Given the description of an element on the screen output the (x, y) to click on. 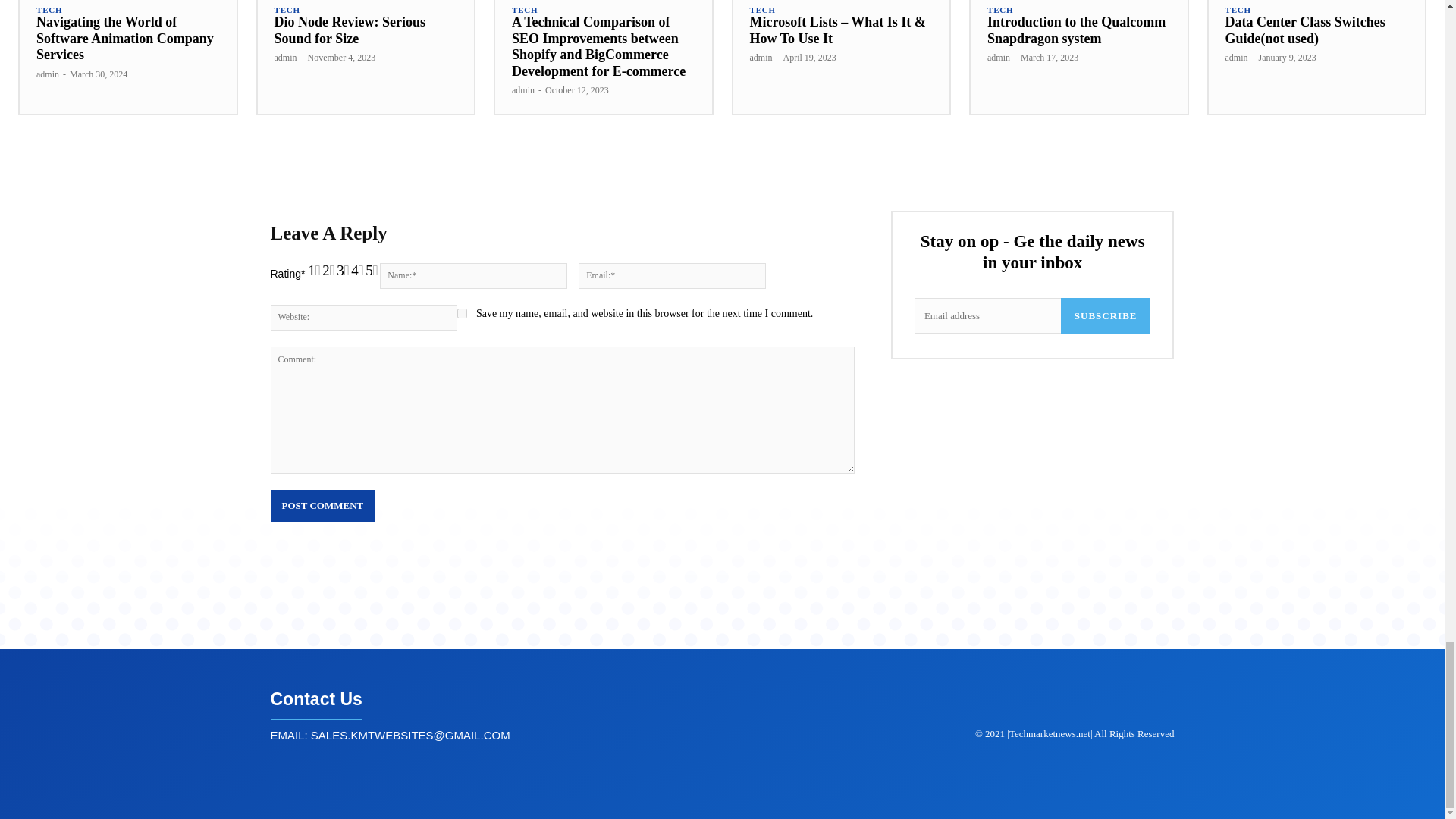
Navigating the World of Software Animation Company Services (125, 38)
Post Comment (321, 505)
yes (462, 313)
